Given the description of an element on the screen output the (x, y) to click on. 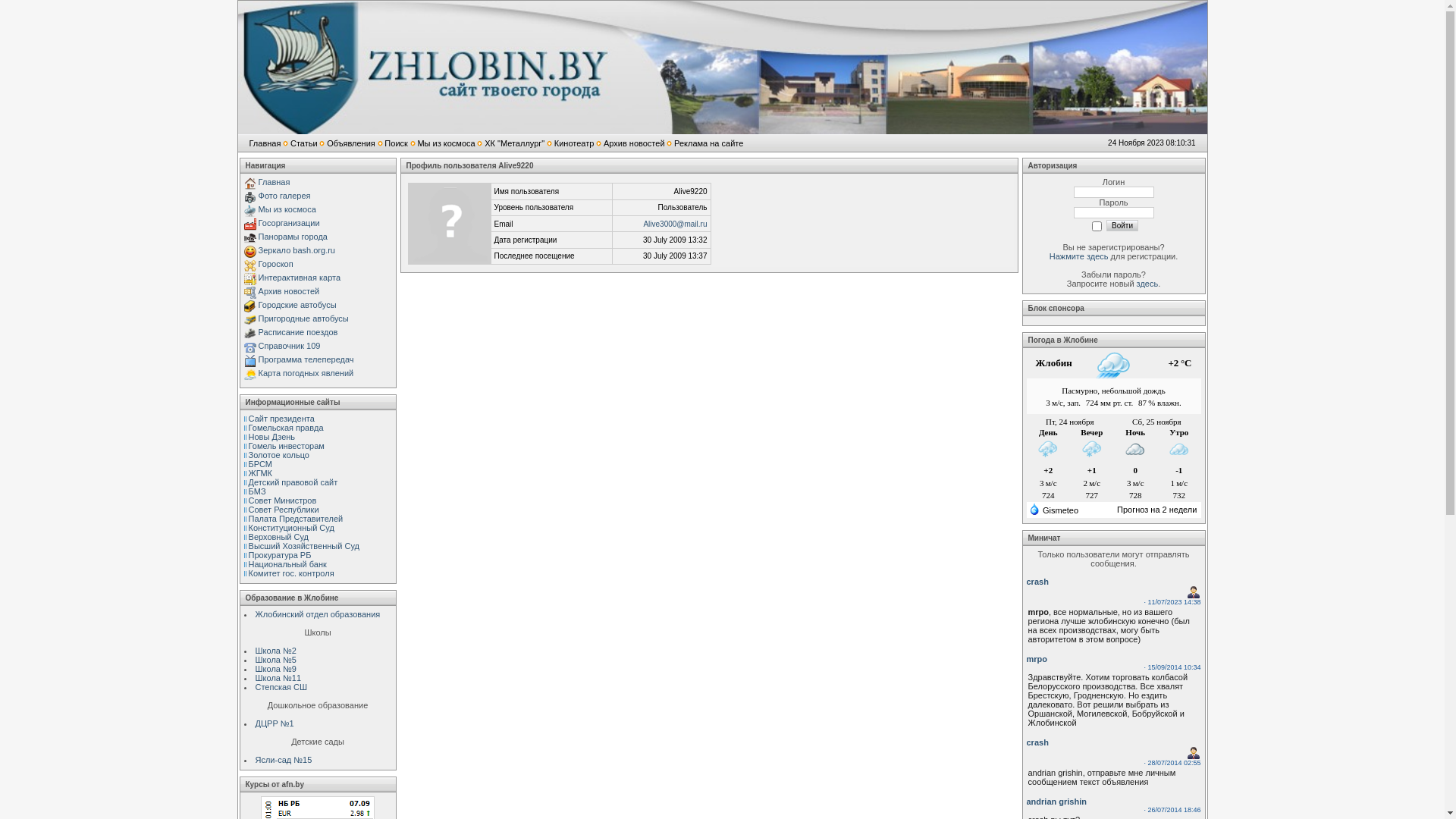
crash Element type: text (1037, 741)
Alive3000@mail.ru Element type: text (674, 223)
crash Element type: text (1037, 581)
andrian grishin Element type: text (1056, 801)
mrpo Element type: text (1037, 658)
